Given the description of an element on the screen output the (x, y) to click on. 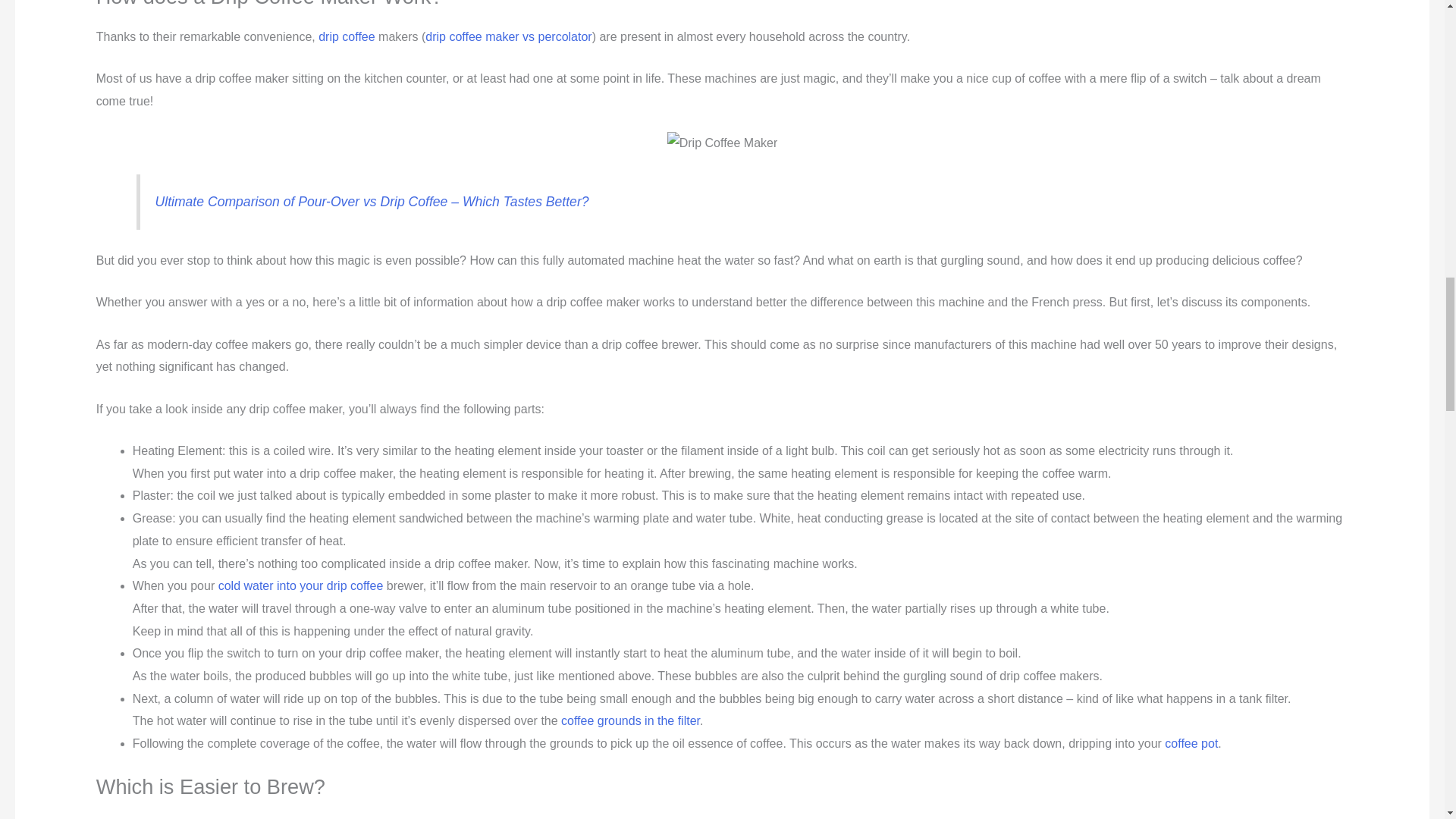
cold water into your drip coffee (301, 585)
drip coffee (346, 36)
coffee grounds in the filter (630, 720)
drip coffee maker vs percolator (508, 36)
